Given the description of an element on the screen output the (x, y) to click on. 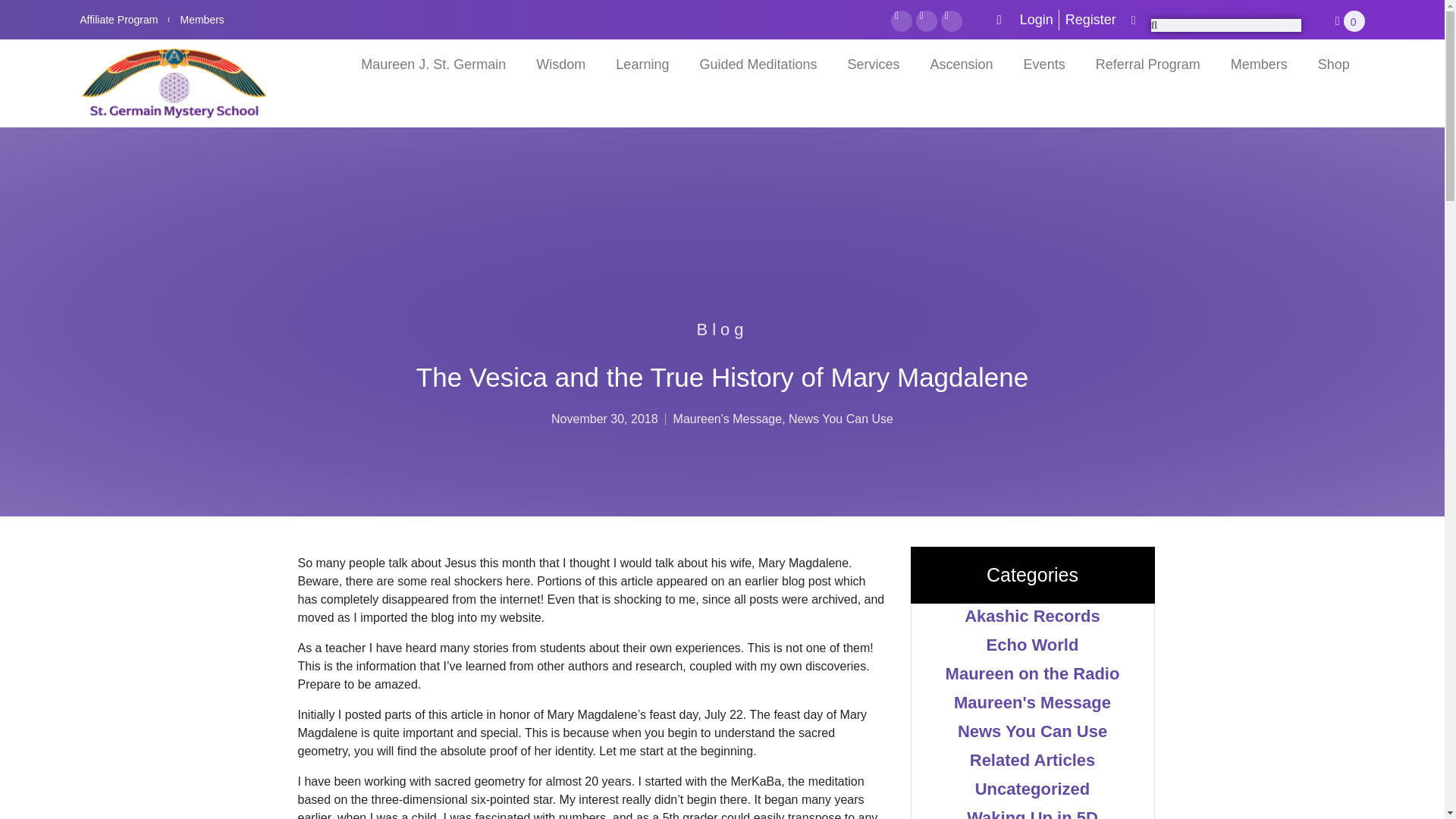
Wisdom (560, 63)
Login (1023, 19)
Guided Meditations (757, 63)
Members (201, 19)
0 (1350, 20)
Maureen J. St. Germain (433, 63)
Register (1090, 19)
Services (873, 63)
Affiliate Program (118, 19)
Learning (641, 63)
